Given the description of an element on the screen output the (x, y) to click on. 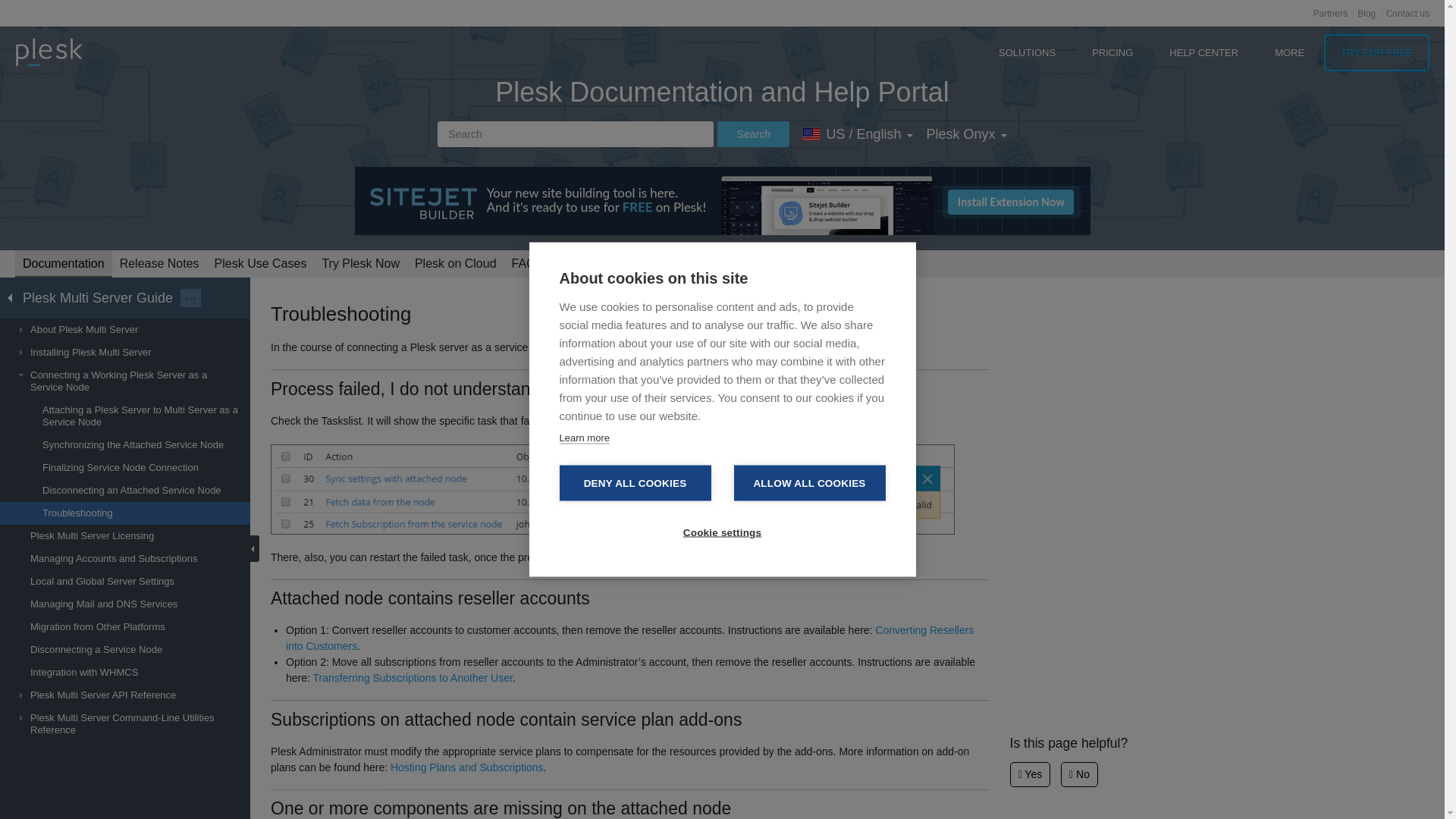
DENY ALL COOKIES (635, 483)
SOLUTIONS (1026, 52)
Plesk Onyx (966, 134)
TRY FOR FREE (1376, 52)
Learn more (584, 438)
Sitejet Builder (722, 201)
MORE (1288, 52)
PRICING (1112, 52)
HELP CENTER (1204, 52)
Cookie settings (721, 531)
Contact us (1407, 13)
Search (753, 134)
Partners (1330, 13)
Search (575, 134)
